Given the description of an element on the screen output the (x, y) to click on. 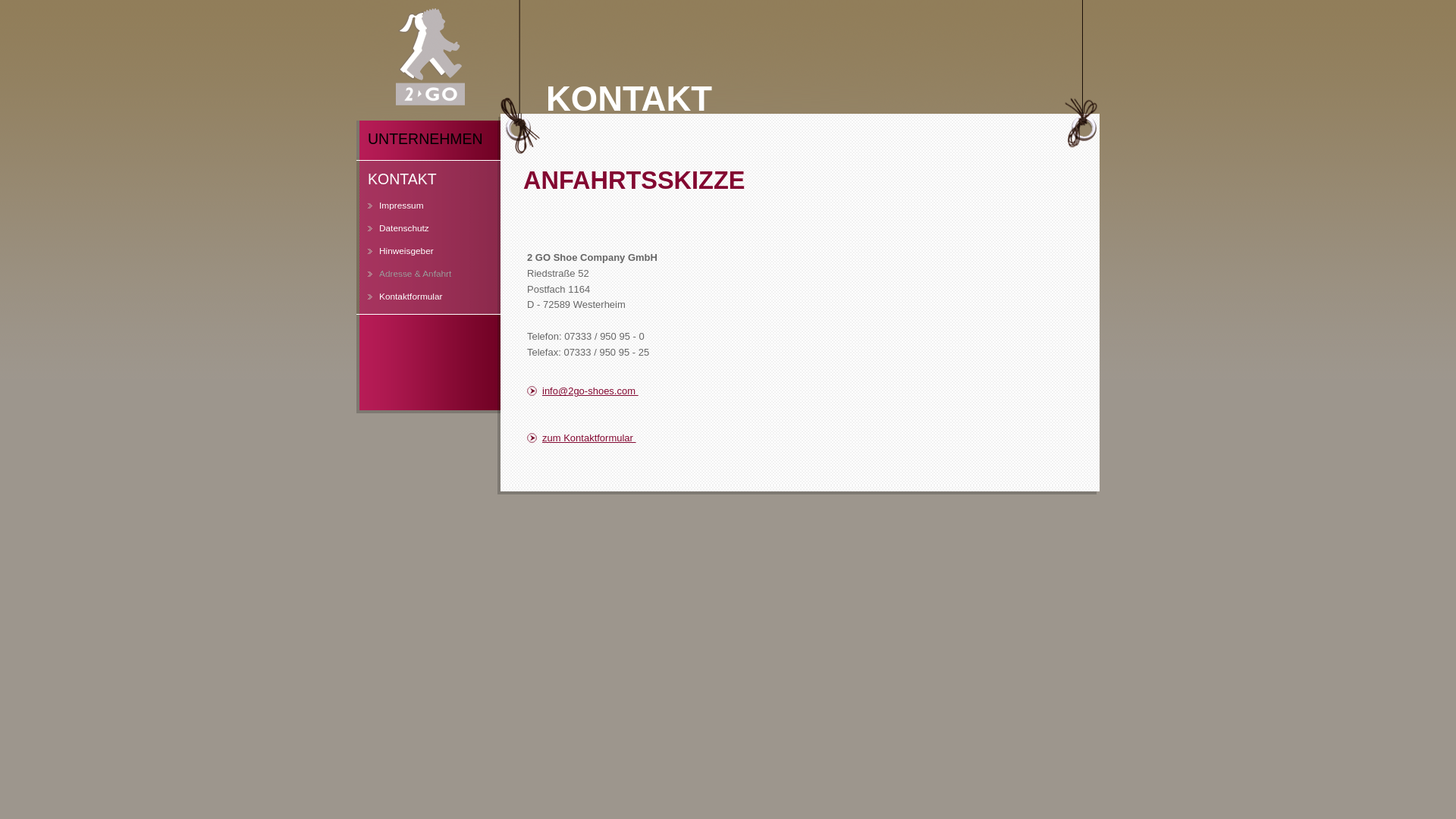
Adresse & Anfahrt Element type: text (416, 279)
Hinweisgeber Element type: text (416, 256)
KONTAKT Element type: text (428, 180)
Kontaktformular Element type: text (416, 302)
UNTERNEHMEN Element type: text (428, 140)
Impressum Element type: text (416, 211)
zum Kontaktformular  Element type: text (618, 438)
info@2go-shoes.com  Element type: text (618, 391)
Datenschutz Element type: text (416, 233)
